Given the description of an element on the screen output the (x, y) to click on. 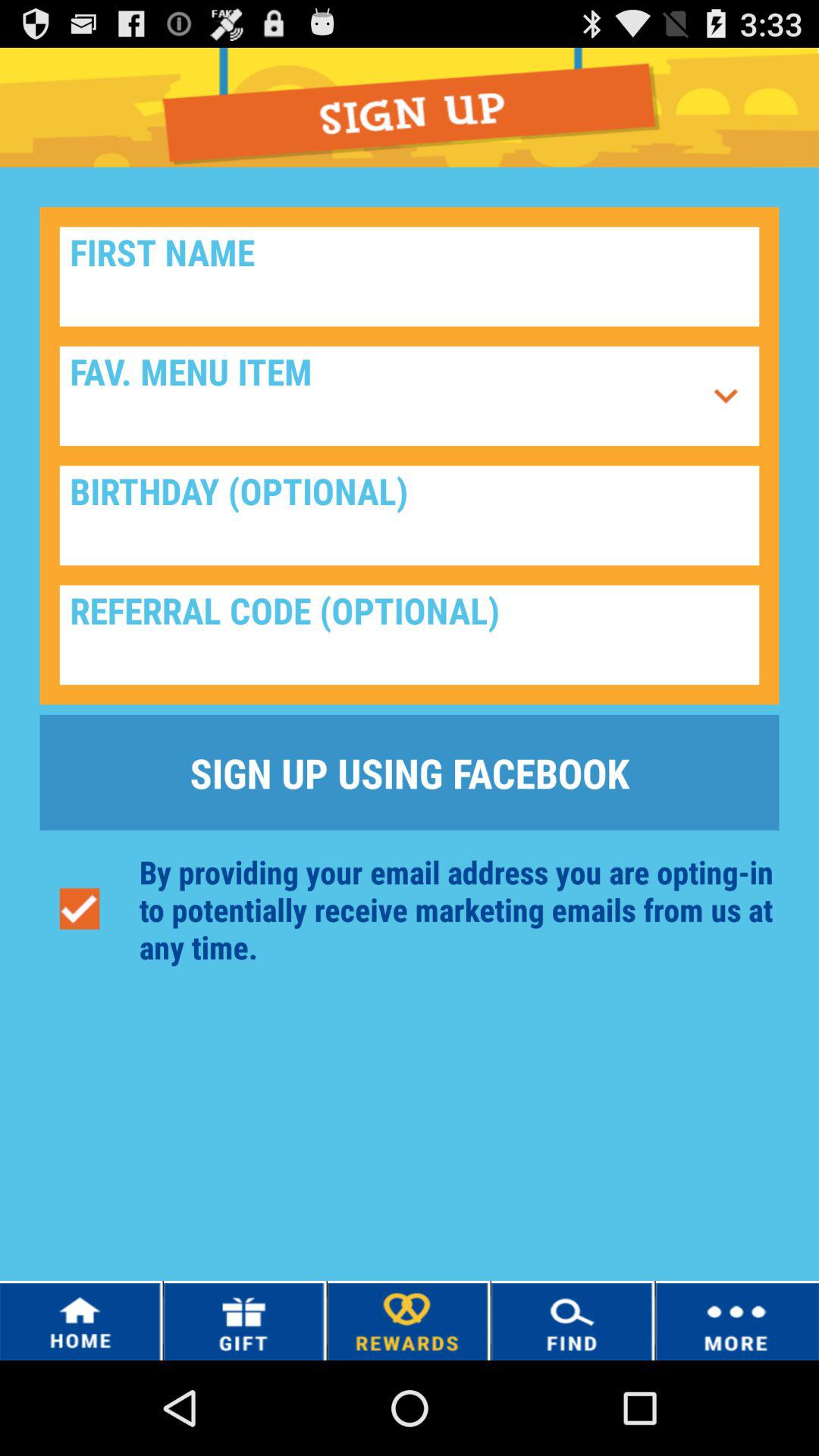
swipe until sign up using (409, 772)
